Given the description of an element on the screen output the (x, y) to click on. 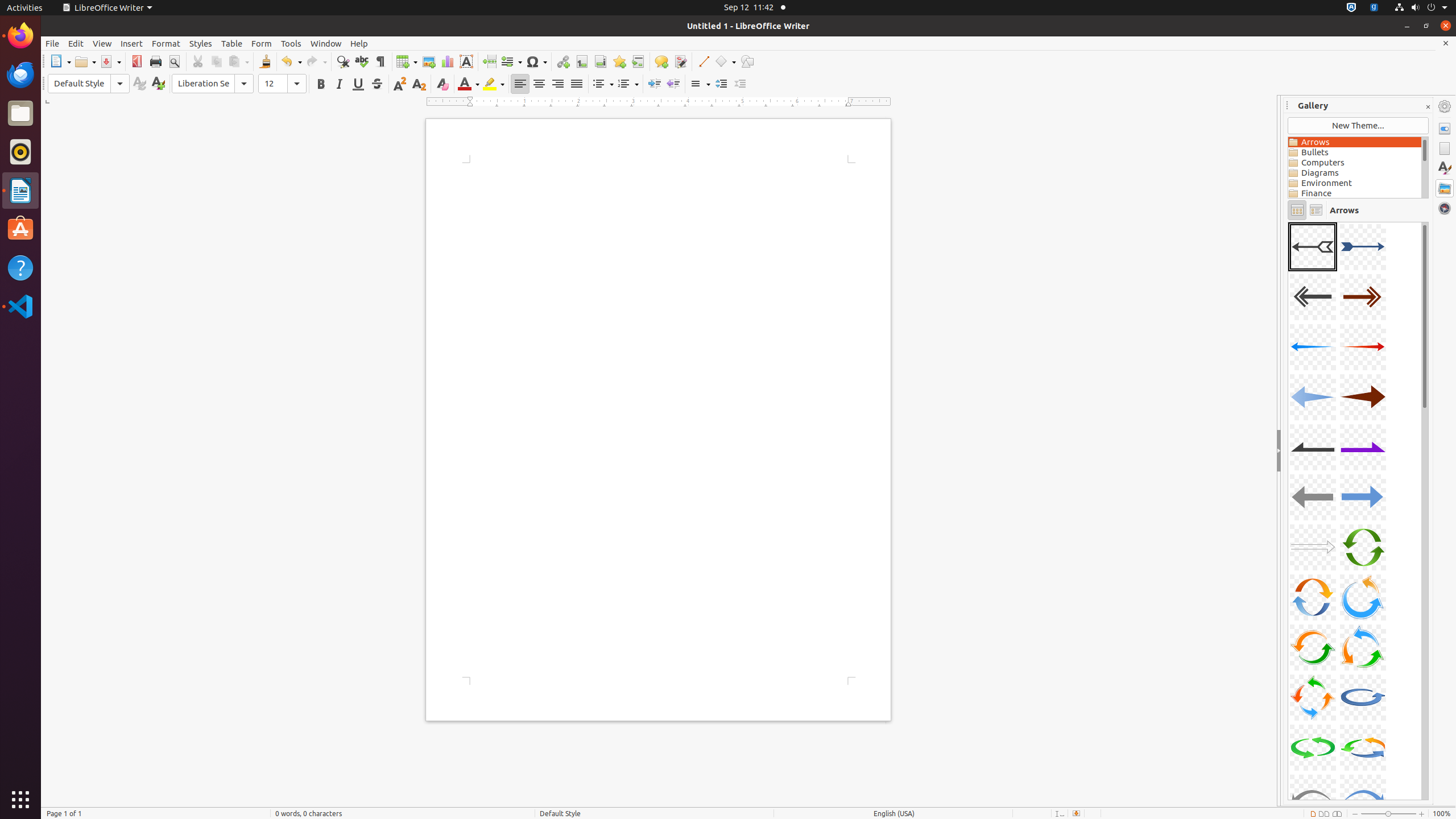
Text Box Element type: push-button (465, 61)
Paste Element type: push-button (237, 61)
Table Element type: menu (231, 43)
A16-CircleArrow Element type: list-item (1362, 596)
Print Element type: push-button (155, 61)
